Given the description of an element on the screen output the (x, y) to click on. 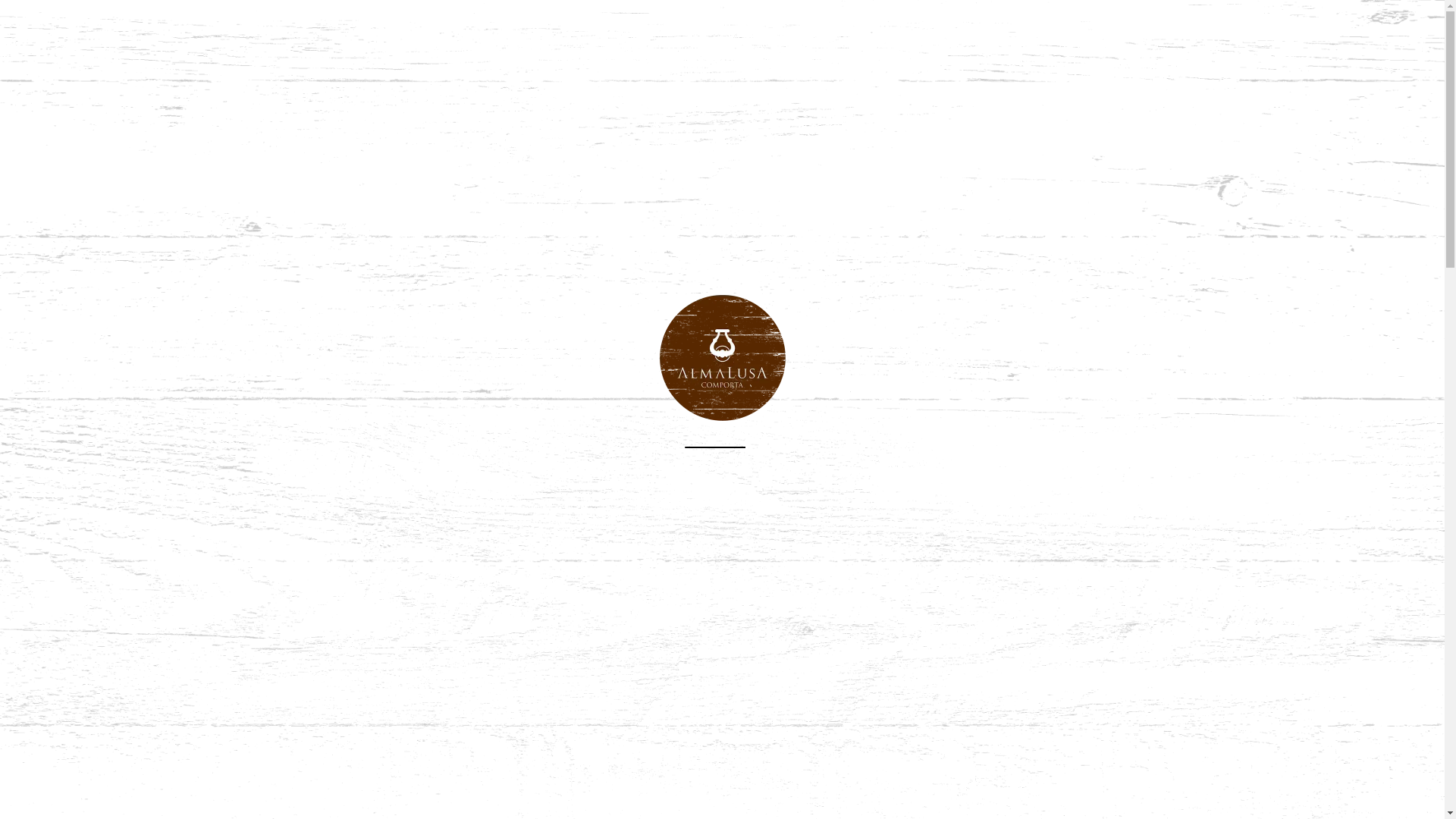
CONCIERGE (969, 31)
TOGGLE LINE (38, 31)
WELLNESS (870, 31)
English (10, 101)
PT (10, 143)
EN (10, 101)
WHAT'S ON (327, 31)
LOYALTY PROGRAMME (603, 31)
ES (10, 165)
FR (10, 122)
